Given the description of an element on the screen output the (x, y) to click on. 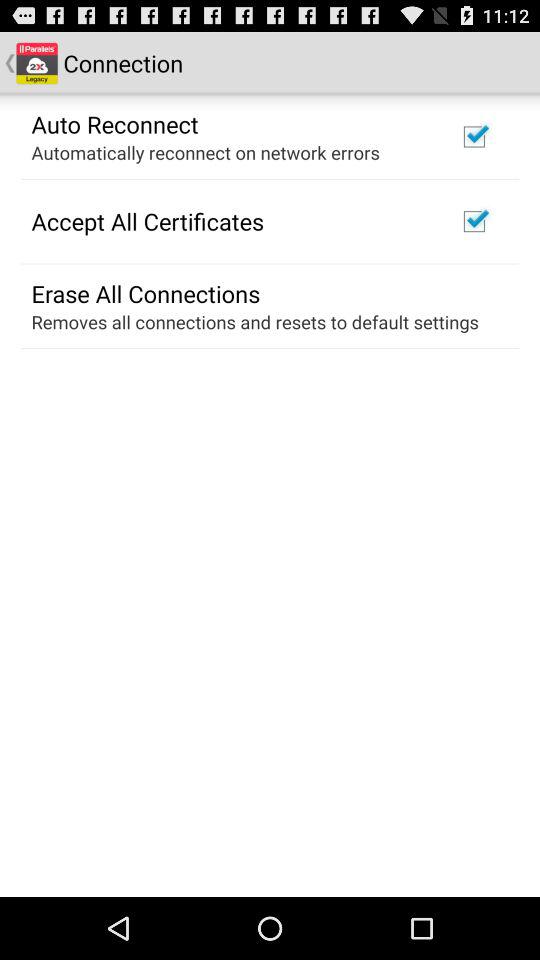
scroll until the auto reconnect app (114, 123)
